Given the description of an element on the screen output the (x, y) to click on. 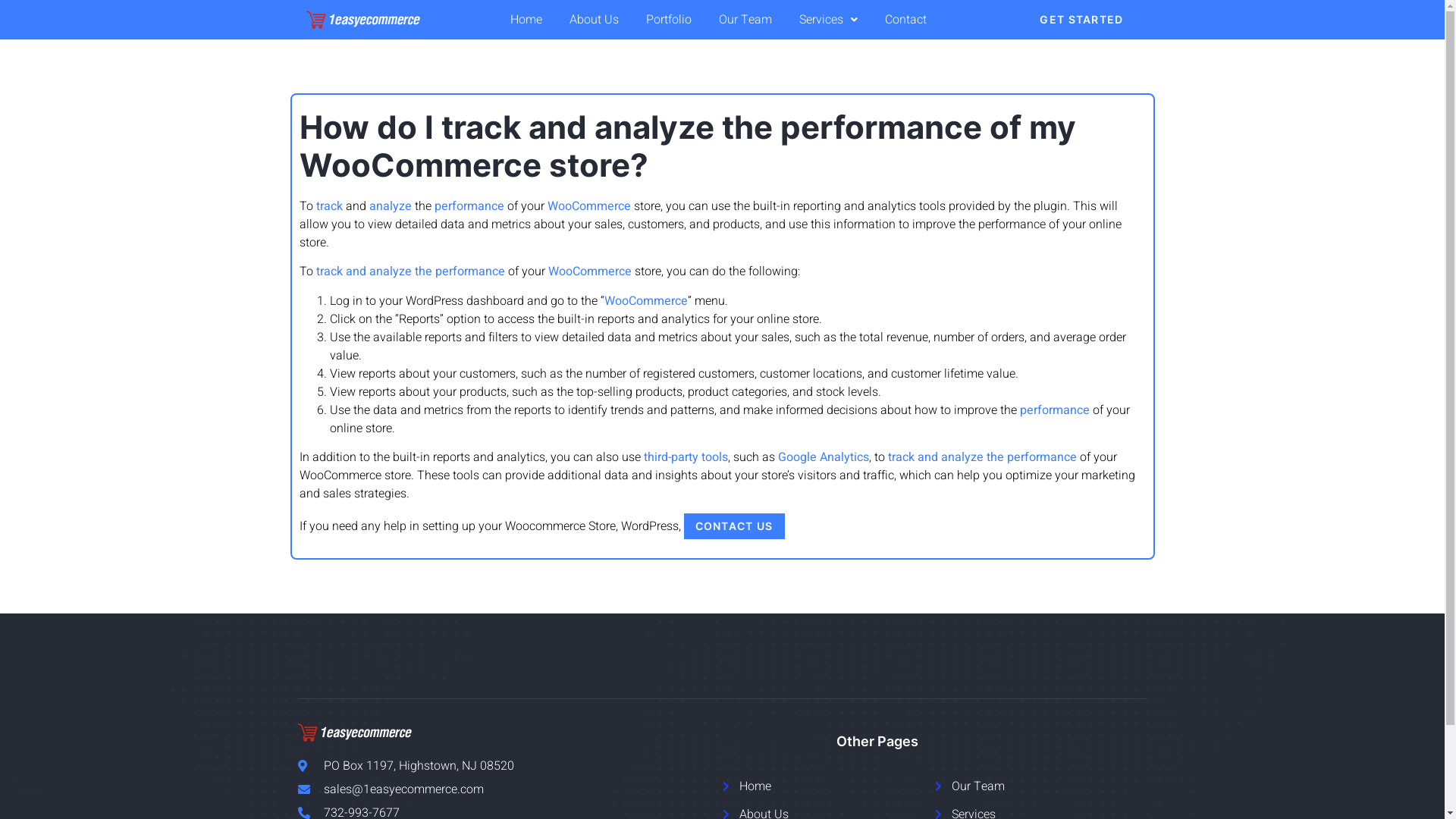
Services Element type: text (828, 19)
sales@1easyecommerce.com Element type: text (494, 789)
Contact Element type: text (905, 19)
About Us Element type: text (593, 19)
Home Element type: text (525, 19)
GET STARTED Element type: text (1081, 19)
Portfolio Element type: text (668, 19)
Home Element type: text (827, 786)
CONTACT US Element type: text (734, 526)
Our Team Element type: text (1040, 786)
Our Team Element type: text (745, 19)
